Given the description of an element on the screen output the (x, y) to click on. 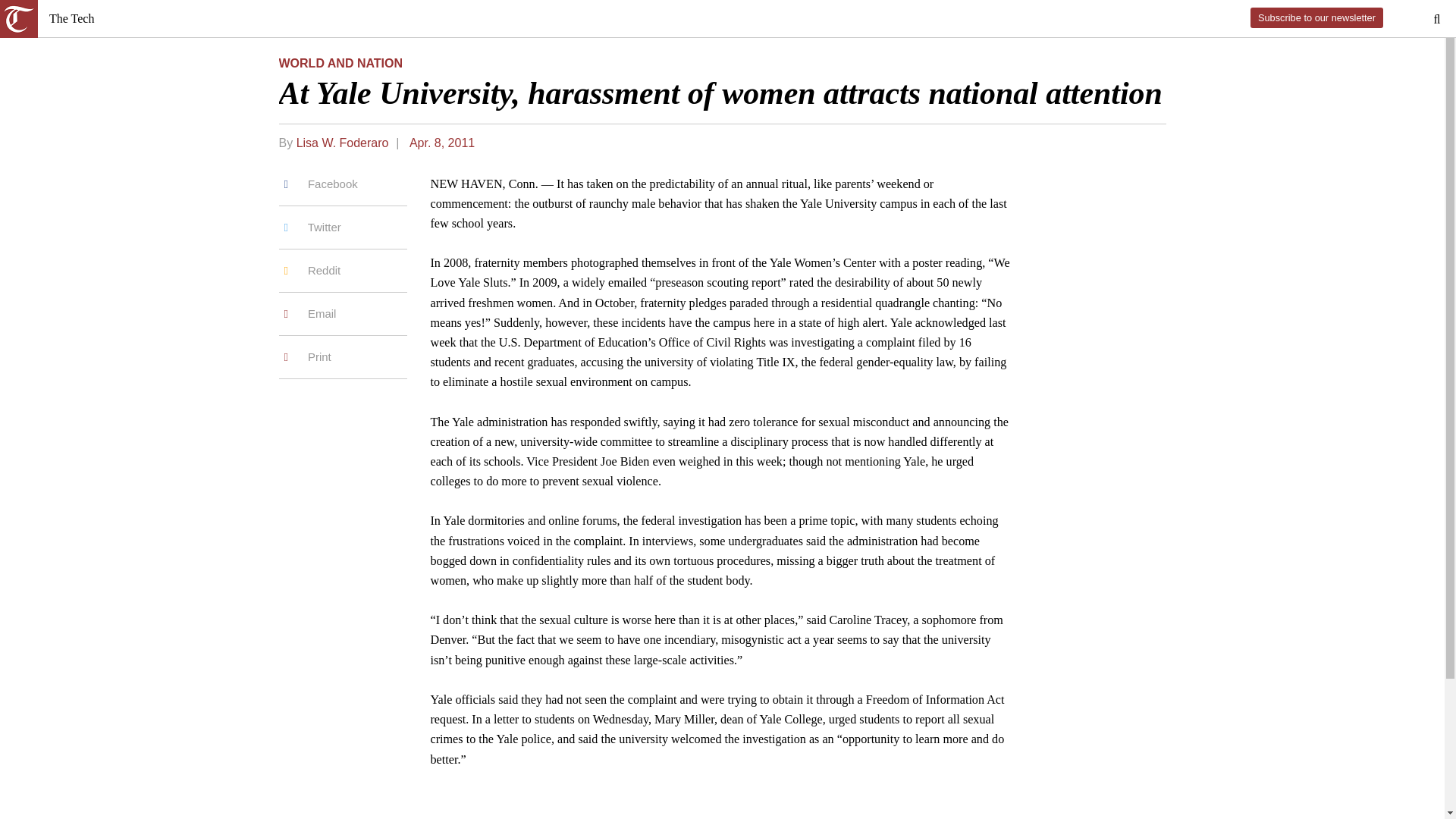
Subscribe to our newsletter (1316, 17)
WORLD AND NATION (341, 62)
Print (343, 357)
Facebook (343, 190)
Email (343, 313)
Apr. 8, 2011 (441, 142)
Lisa W. Foderaro (342, 142)
Twitter (343, 227)
Reddit (343, 270)
